Given the description of an element on the screen output the (x, y) to click on. 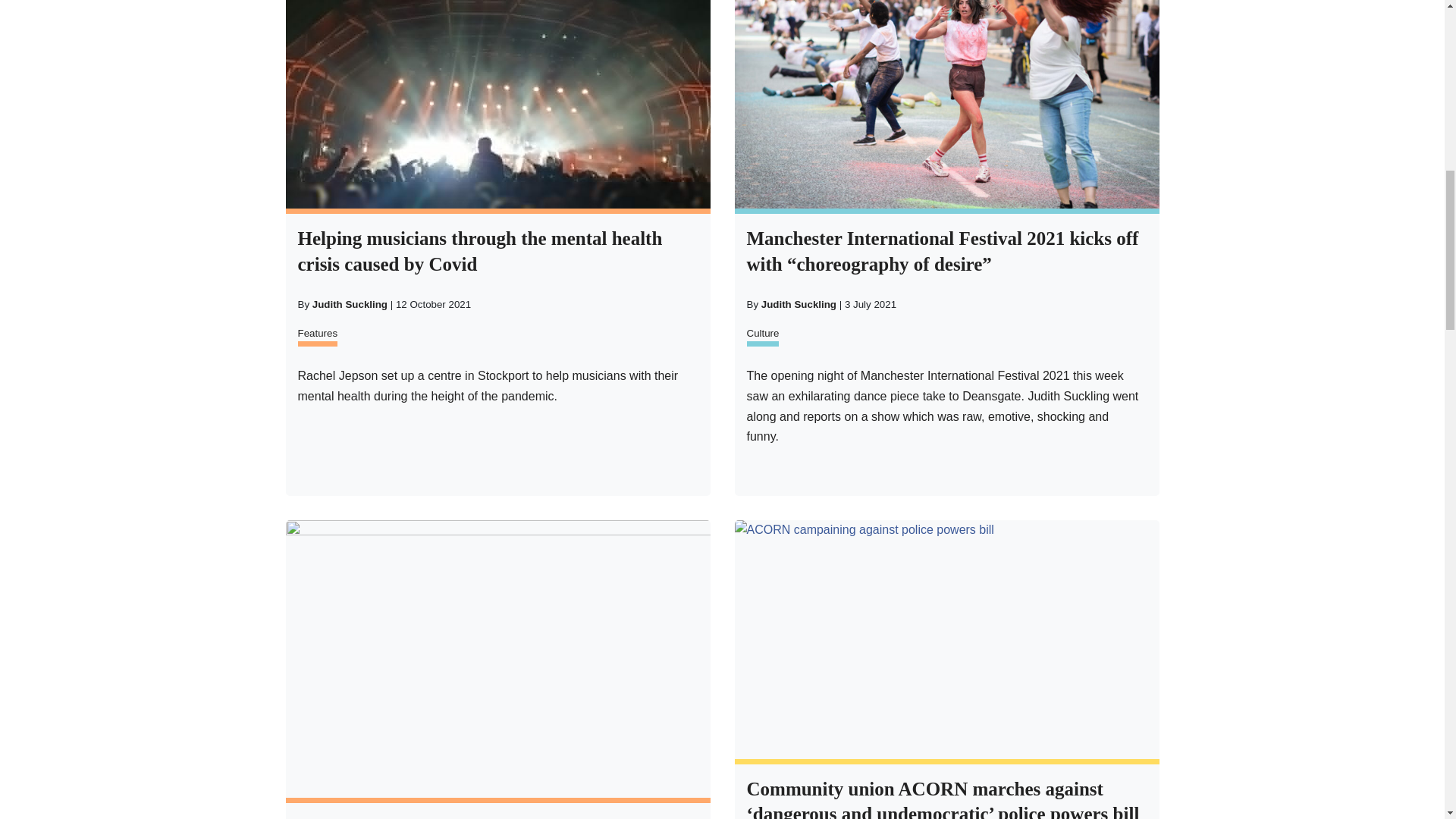
Judith Suckling (350, 304)
Features (317, 335)
